Given the description of an element on the screen output the (x, y) to click on. 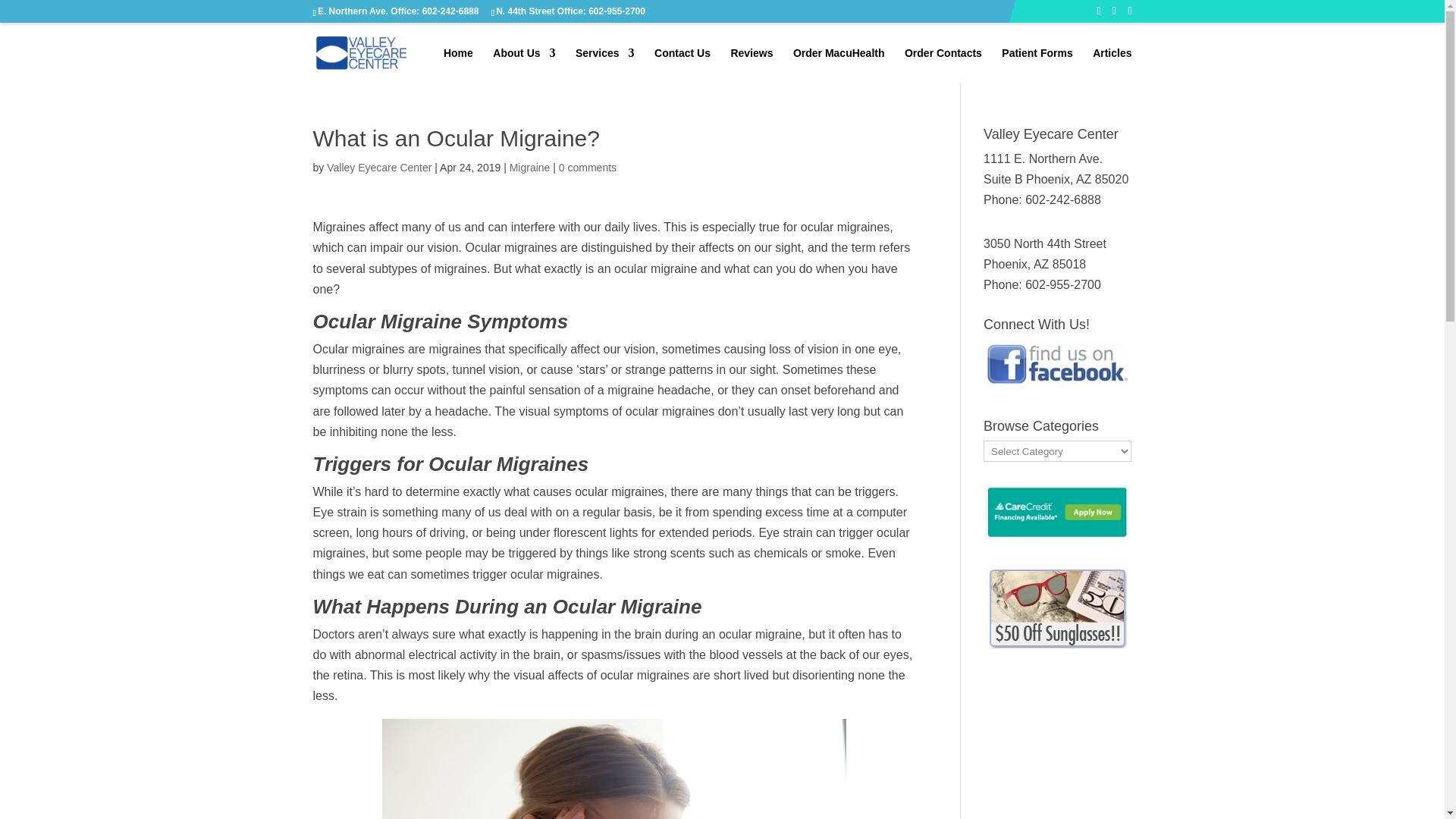
About Us (523, 65)
0 comments (587, 167)
Articles (1112, 65)
Posts by Valley Eyecare Center (378, 167)
Order Contacts (942, 65)
Services (604, 65)
Migraine (529, 167)
E. Northern Ave. Office: 602-242-6888 (398, 10)
Home (458, 65)
Contact Us (681, 65)
Reviews (751, 65)
N. 44th Street Office: 602-955-2700 (570, 10)
Order MacuHealth (839, 65)
Patient Forms (1036, 65)
Valley Eyecare Center (378, 167)
